Given the description of an element on the screen output the (x, y) to click on. 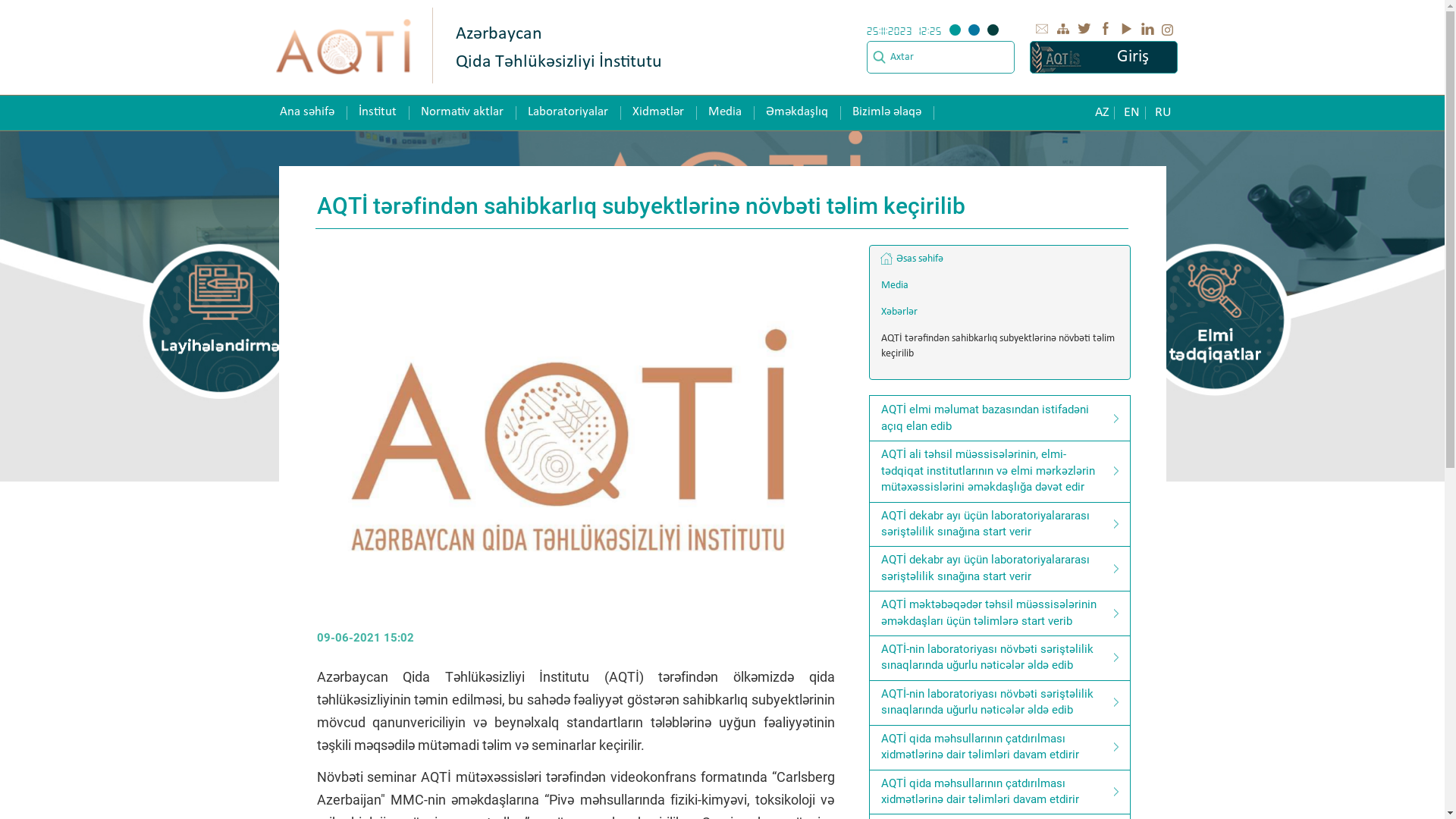
EN Element type: text (1131, 112)
Media Element type: text (999, 285)
Media Element type: text (724, 112)
Normativ aktlar Element type: text (461, 112)
AZ Element type: text (1101, 112)
Laboratoriyalar Element type: text (567, 112)
RU Element type: text (1162, 112)
